Given the description of an element on the screen output the (x, y) to click on. 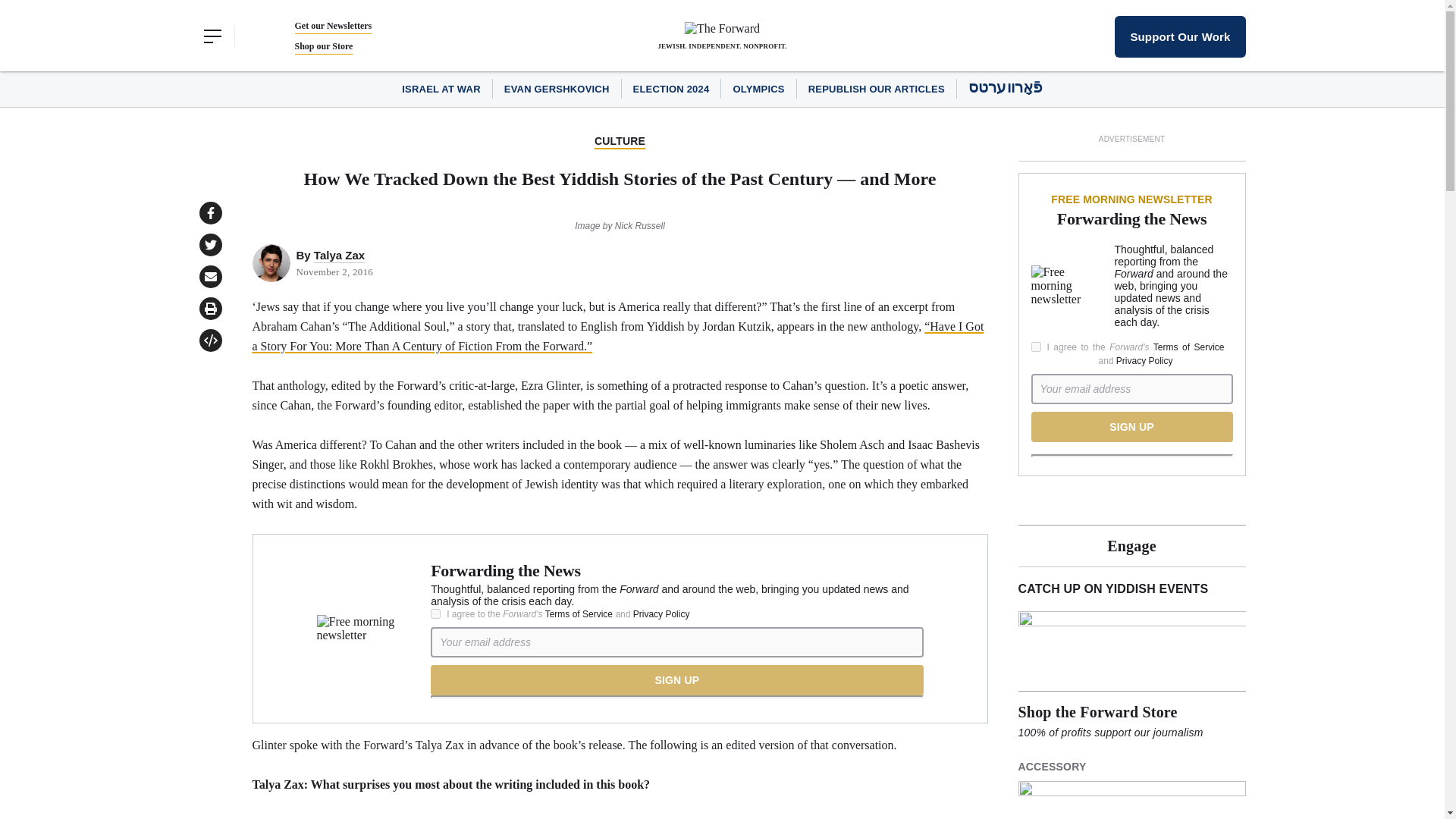
Yes (1035, 347)
Sign Up (676, 680)
EVAN GERSHKOVICH (556, 89)
Click to open publish popup (209, 340)
ELECTION 2024 (671, 89)
Sign Up (1131, 426)
Shop our Store (323, 46)
Yes (435, 614)
Support Our Work (1179, 35)
ISRAEL AT WAR (440, 89)
Get our Newsletters (332, 26)
